Given the description of an element on the screen output the (x, y) to click on. 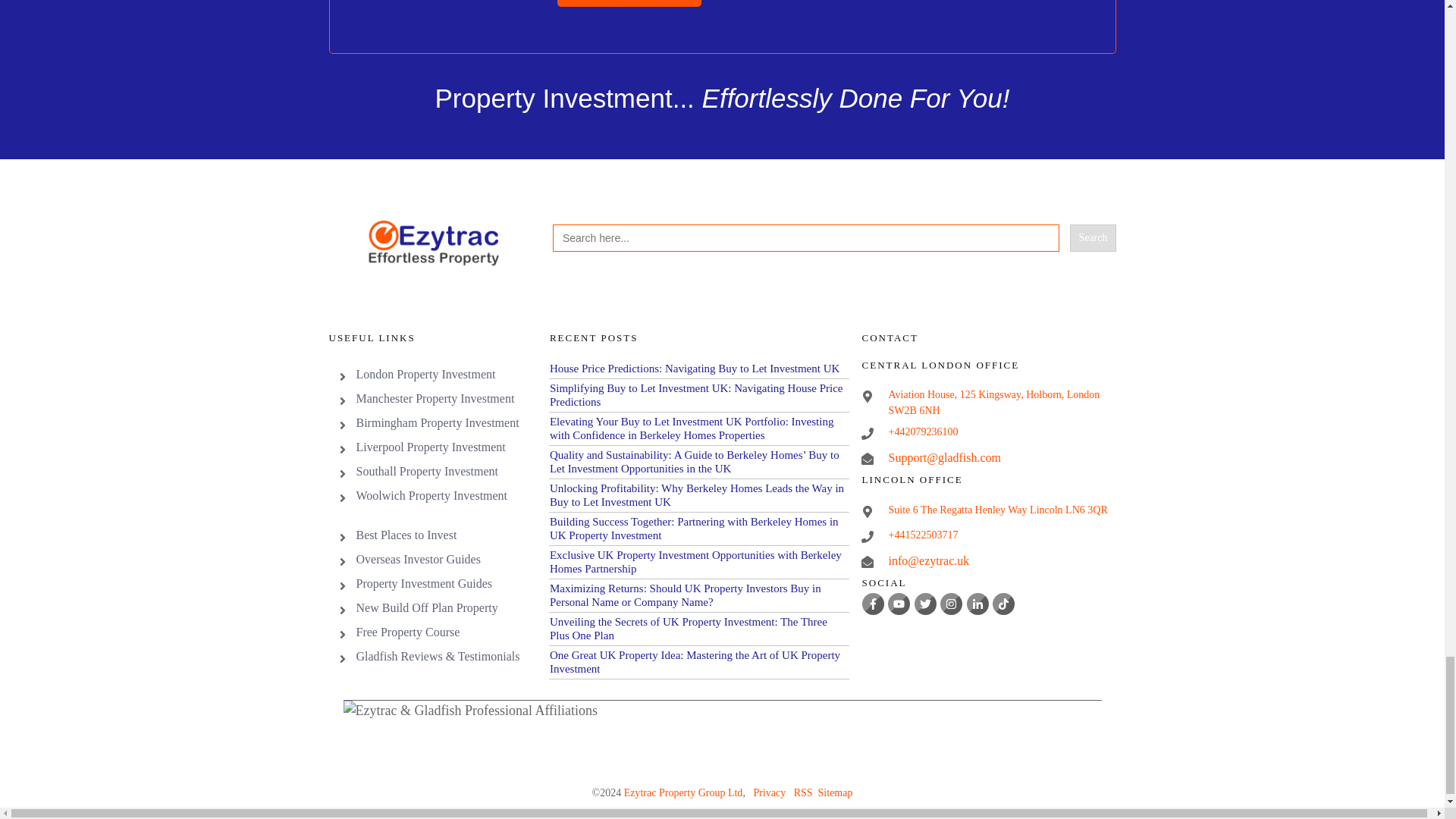
Search (1092, 237)
Register Your Seat (629, 3)
Search (1092, 237)
House Price Predictions: Navigating Buy to Let Investment UK (695, 368)
Search (1092, 237)
